Given the description of an element on the screen output the (x, y) to click on. 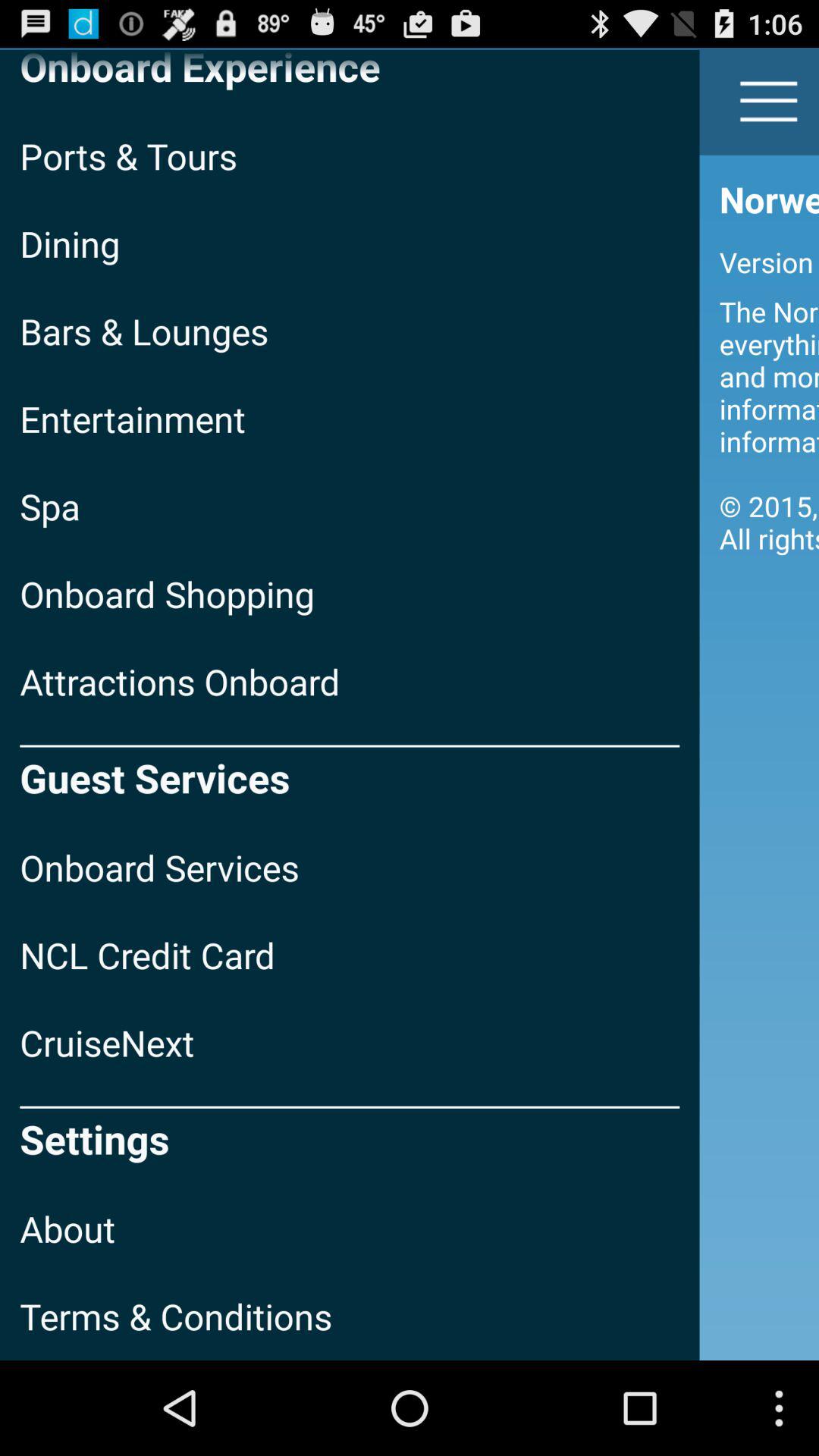
turn off the icon to the right of the onboard experience icon (769, 101)
